Given the description of an element on the screen output the (x, y) to click on. 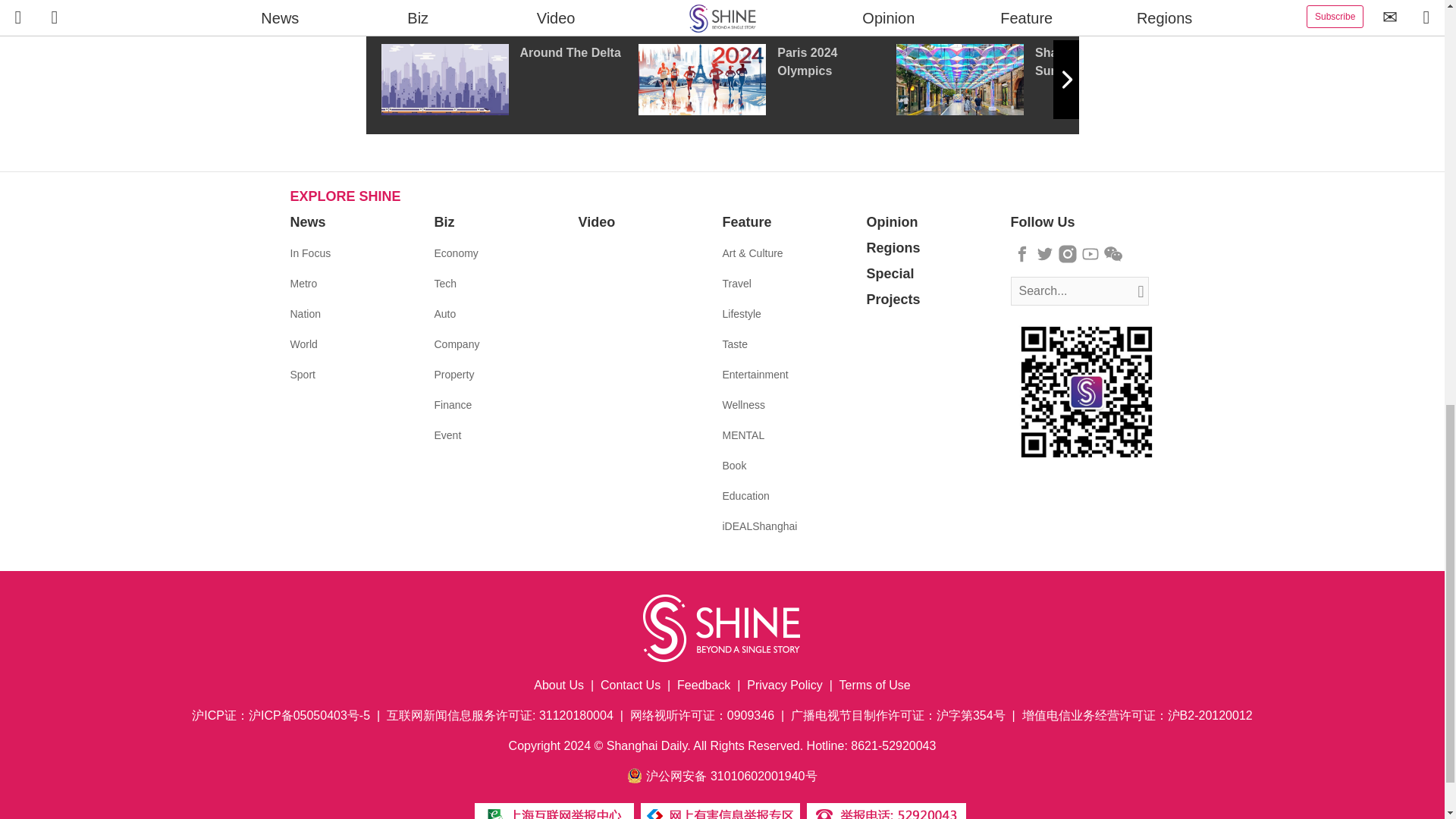
Shanghai Summer (1024, 79)
Paris 2024 Olympics (767, 79)
Follow us on Facebook (1021, 253)
Follow us on Twitter (1044, 253)
News (306, 222)
Follow us on Wechat (1112, 253)
Special Reports (721, 8)
Follow us on Instagram (1067, 253)
Around The Delta (508, 79)
Follow us on Youtube (1090, 253)
